Given the description of an element on the screen output the (x, y) to click on. 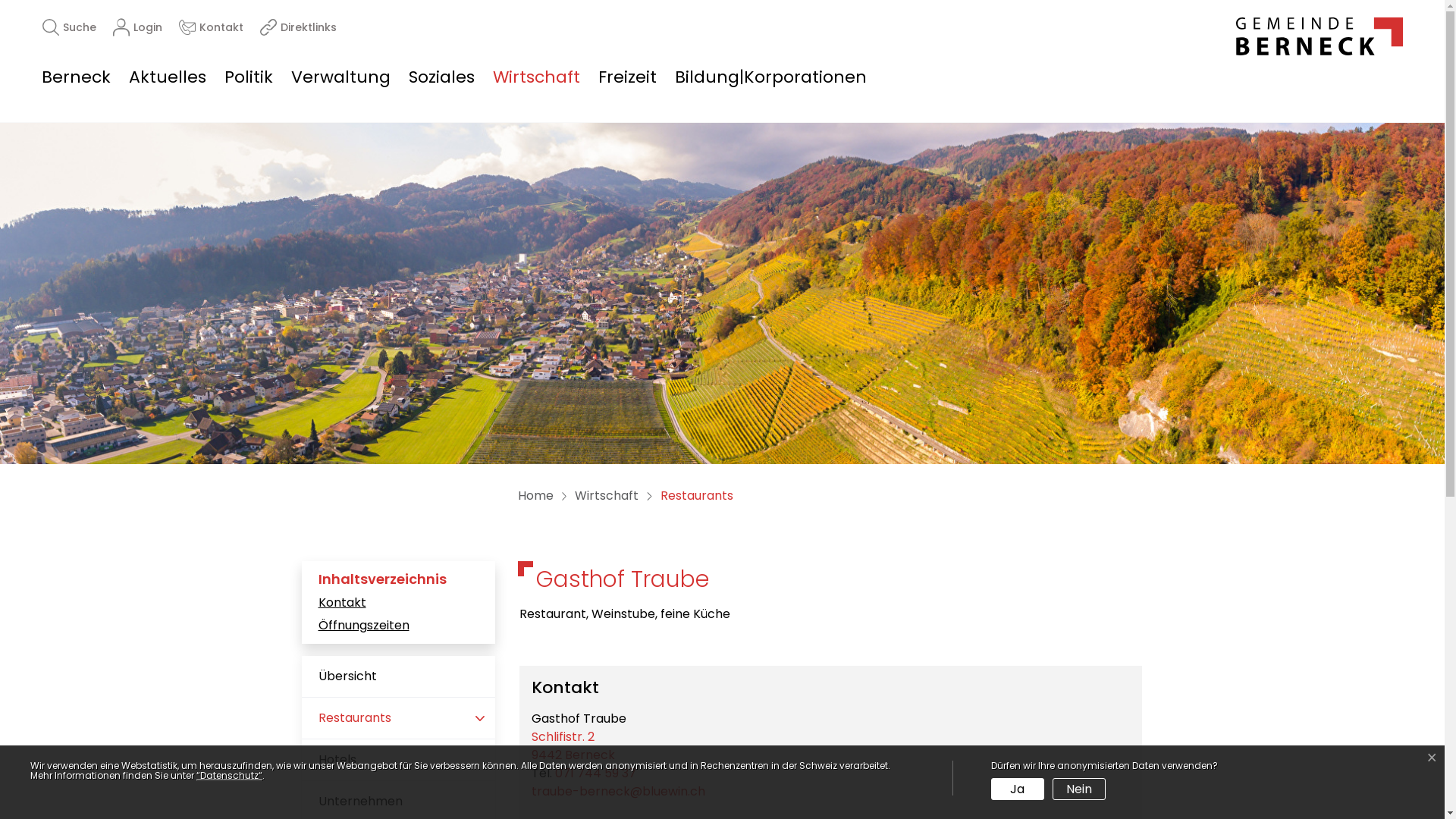
Berneck Element type: text (80, 76)
Politik Element type: text (248, 76)
Suche Element type: text (69, 27)
Verwaltung Element type: text (340, 76)
Ja Element type: text (1017, 789)
Bildung|Korporationen Element type: text (765, 76)
Hotels Element type: text (398, 759)
traube-berneck@bluewin.ch Element type: text (617, 791)
Kontakt Element type: text (211, 27)
Wirtschaft Element type: text (536, 76)
Home Element type: text (534, 495)
Soziales Element type: text (441, 76)
071 744 59 37 Element type: text (595, 772)
Login Element type: text (137, 27)
Kontakt Element type: text (398, 603)
Berneck Element type: text (1319, 36)
Schlifistr. 2
9442 Berneck Element type: text (572, 745)
Aktuelles Element type: text (167, 76)
Direktlinks Element type: text (298, 27)
Freizeit Element type: text (627, 76)
Nein Element type: text (1078, 789)
Wirtschaft Element type: text (606, 495)
